Given the description of an element on the screen output the (x, y) to click on. 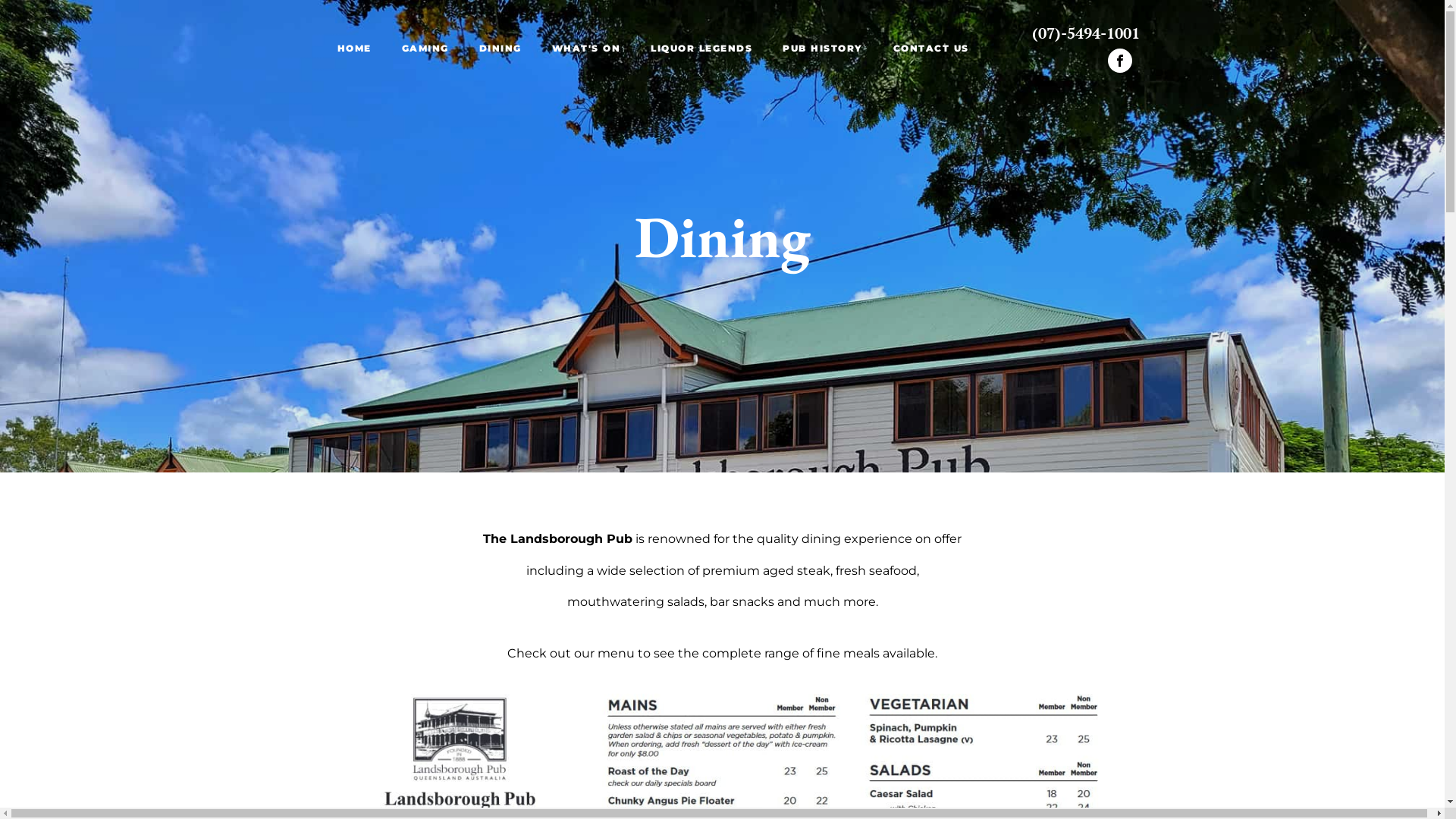
CONTACT US Element type: text (931, 47)
GAMING Element type: text (425, 47)
(07)-5494-1001 Element type: text (1085, 33)
LIQUOR LEGENDS Element type: text (701, 47)
HOME Element type: text (353, 47)
PUB HISTORY Element type: text (822, 47)
DINING Element type: text (500, 47)
WHAT'S ON Element type: text (586, 47)
